Given the description of an element on the screen output the (x, y) to click on. 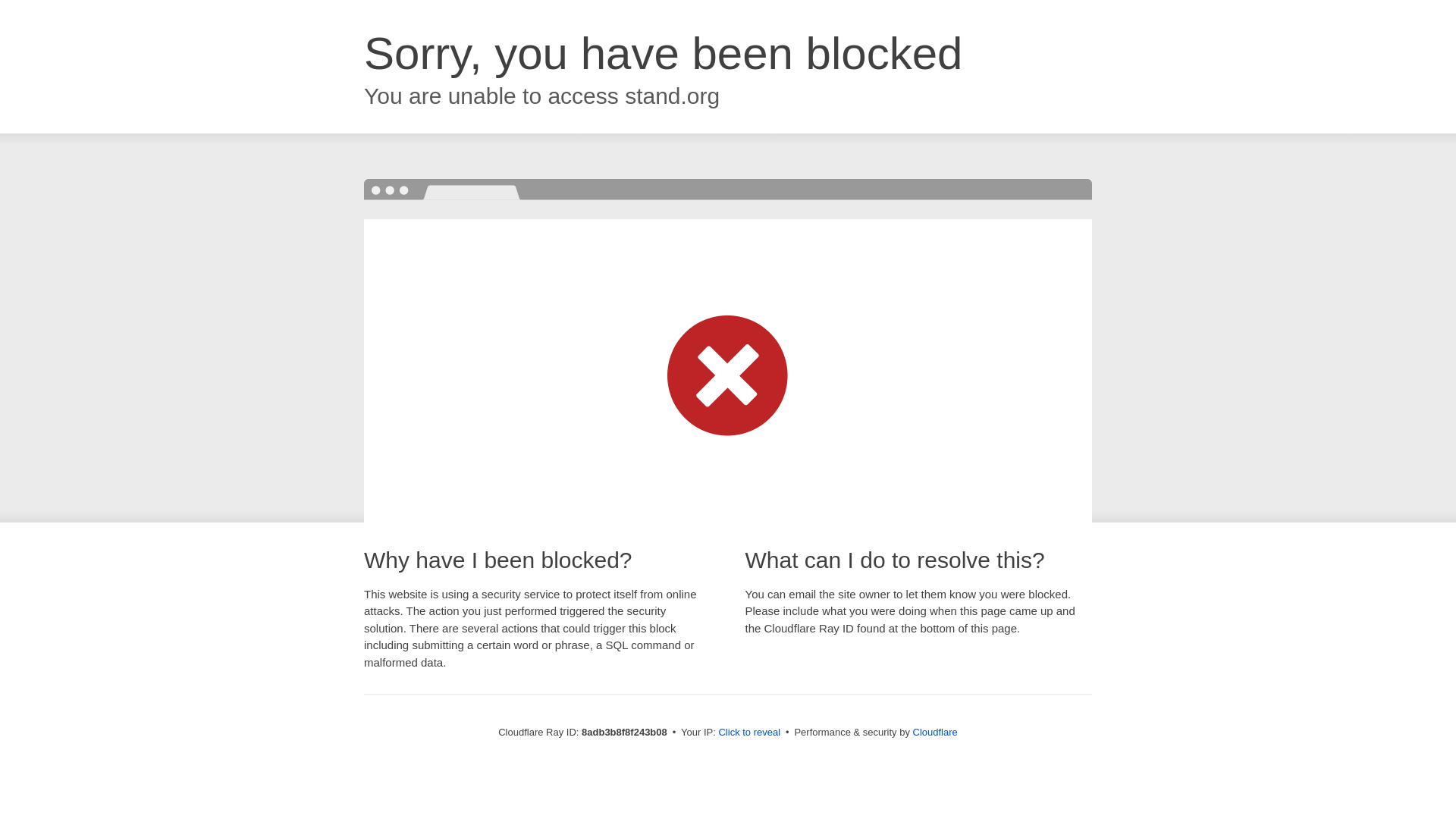
Cloudflare (935, 731)
Click to reveal (748, 732)
